Given the description of an element on the screen output the (x, y) to click on. 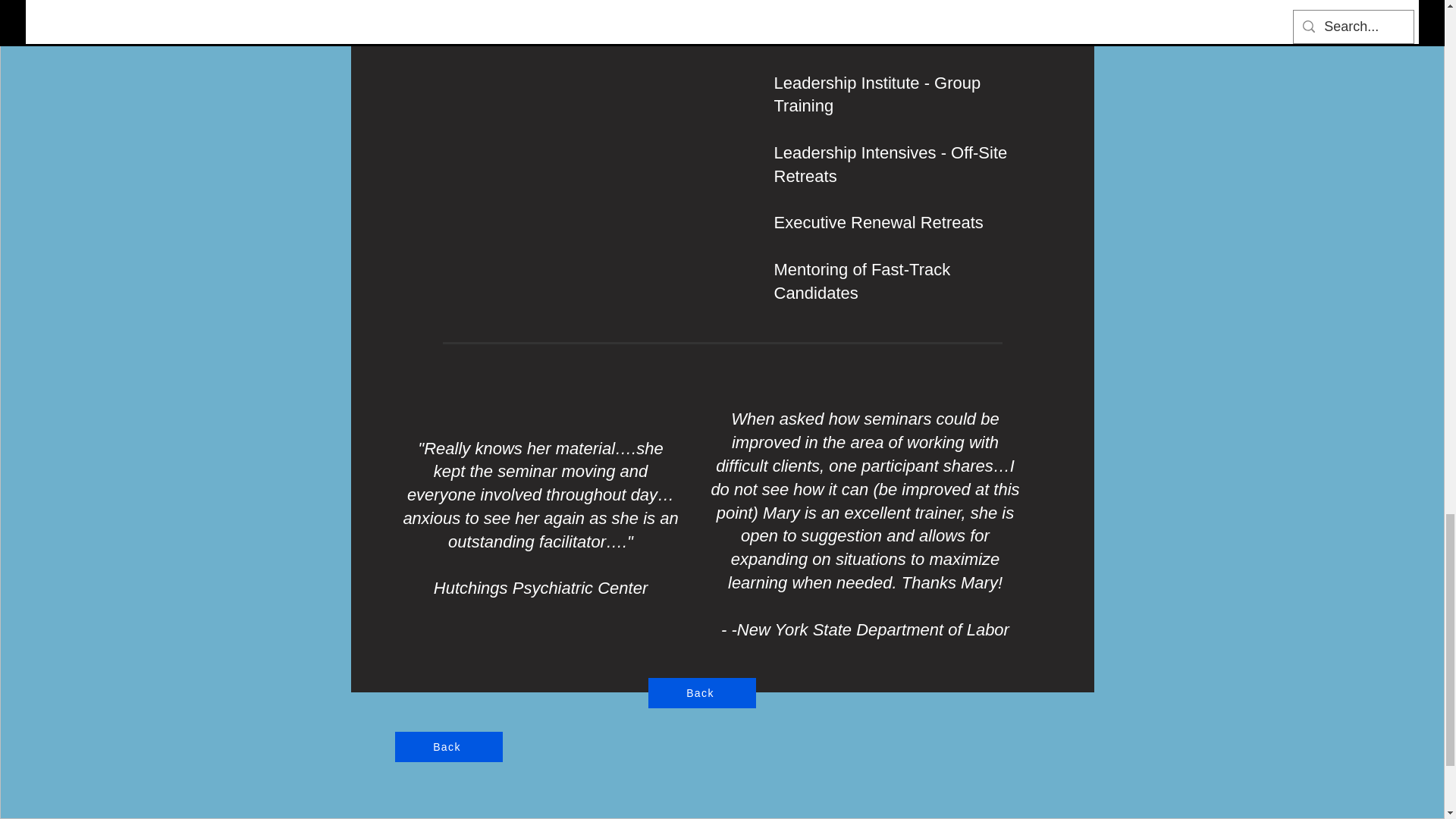
passive-agressive-sayings.jpg (539, 61)
Back (701, 693)
Back (448, 747)
